Given the description of an element on the screen output the (x, y) to click on. 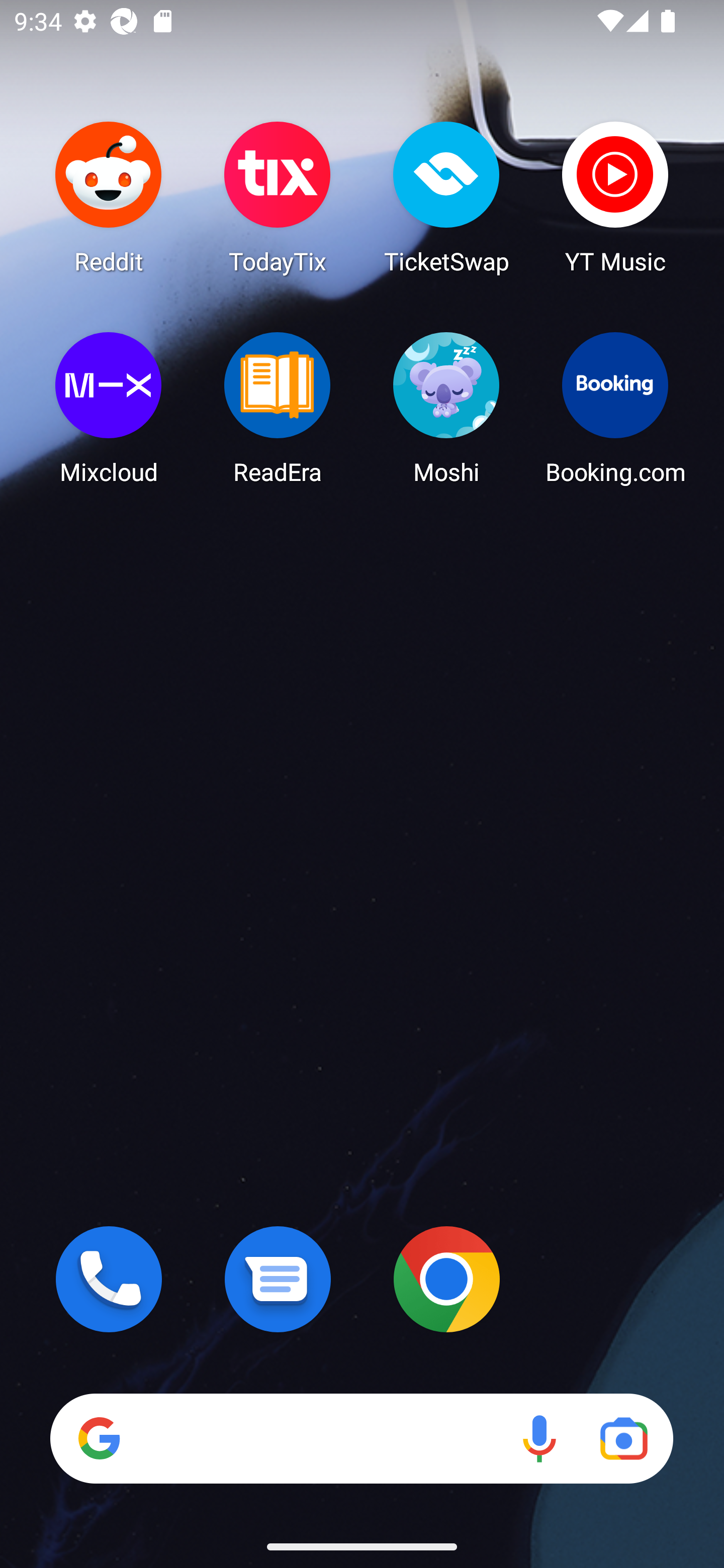
Reddit (108, 196)
TodayTix (277, 196)
TicketSwap (445, 196)
YT Music (615, 196)
Mixcloud (108, 407)
ReadEra (277, 407)
Moshi (445, 407)
Booking.com (615, 407)
Phone (108, 1279)
Messages (277, 1279)
Chrome (446, 1279)
Search Voice search Google Lens (361, 1438)
Voice search (539, 1438)
Google Lens (623, 1438)
